Given the description of an element on the screen output the (x, y) to click on. 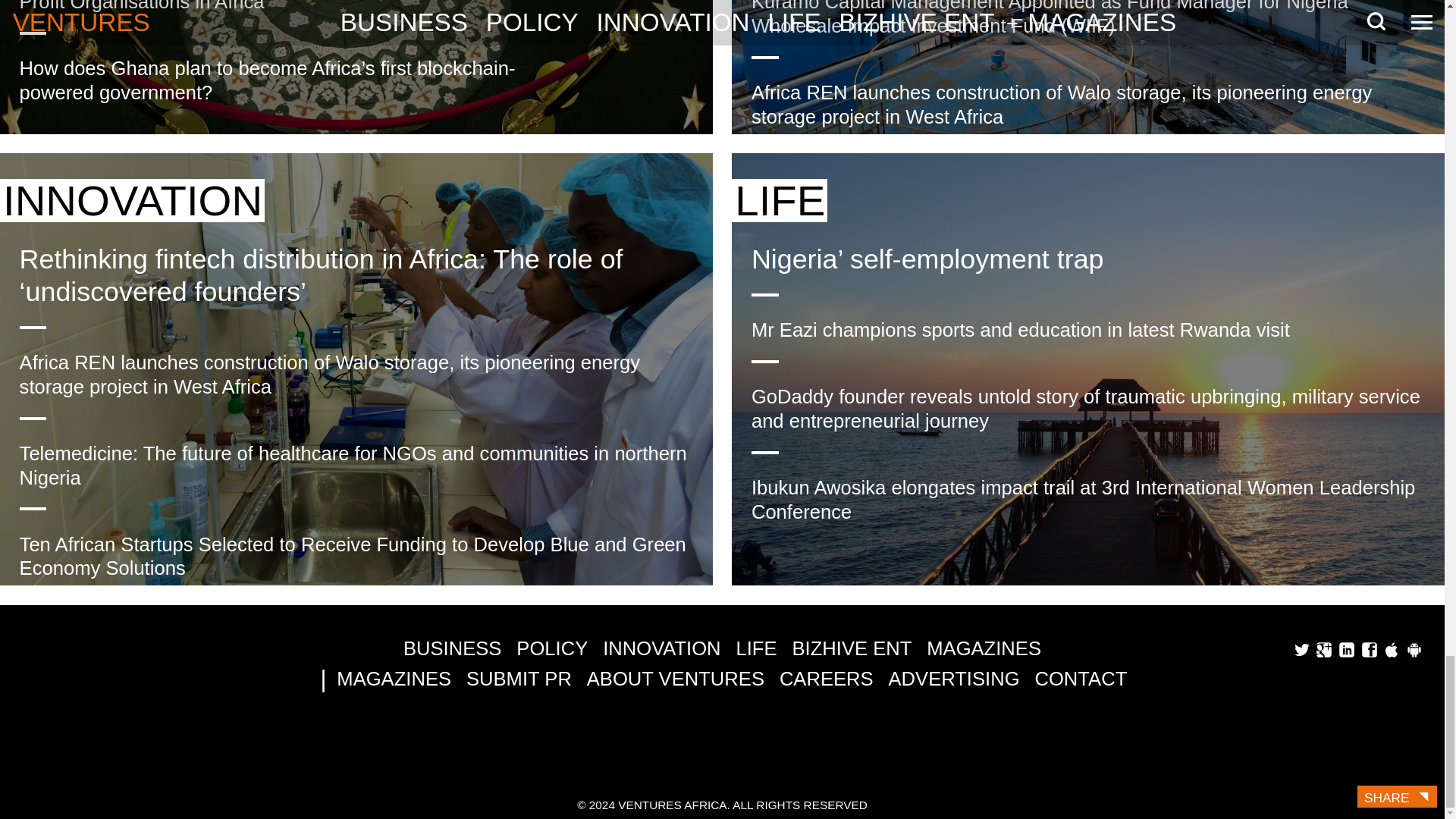
POLICY (552, 649)
LIFE (779, 200)
INNOVATION (132, 200)
INNOVATION (661, 649)
BUSINESS (451, 649)
